Given the description of an element on the screen output the (x, y) to click on. 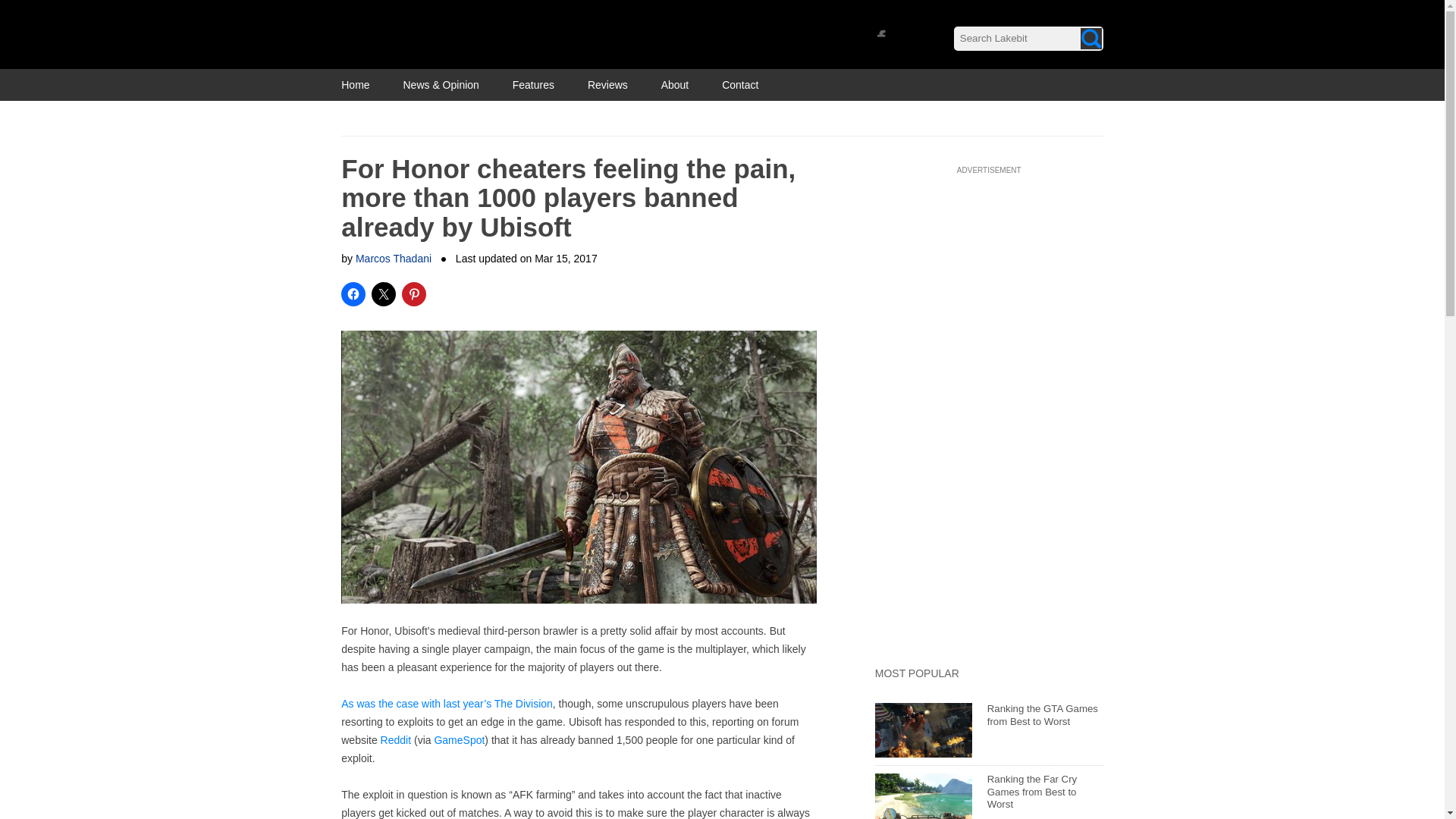
Ranking the Far Cry Games from Best to Worst (1032, 791)
Marcos Thadani (392, 258)
Search (1091, 38)
Contact (740, 84)
Click to share on X (383, 293)
Reviews (607, 84)
About (674, 84)
Features (533, 84)
Ranking the GTA Games from Best to Worst (1042, 714)
GameSpot (458, 739)
Click to share on Facebook (352, 293)
Ranking the GTA Games from Best to Worst (1042, 714)
Ranking the Far Cry Games from Best to Worst (1032, 791)
